Given the description of an element on the screen output the (x, y) to click on. 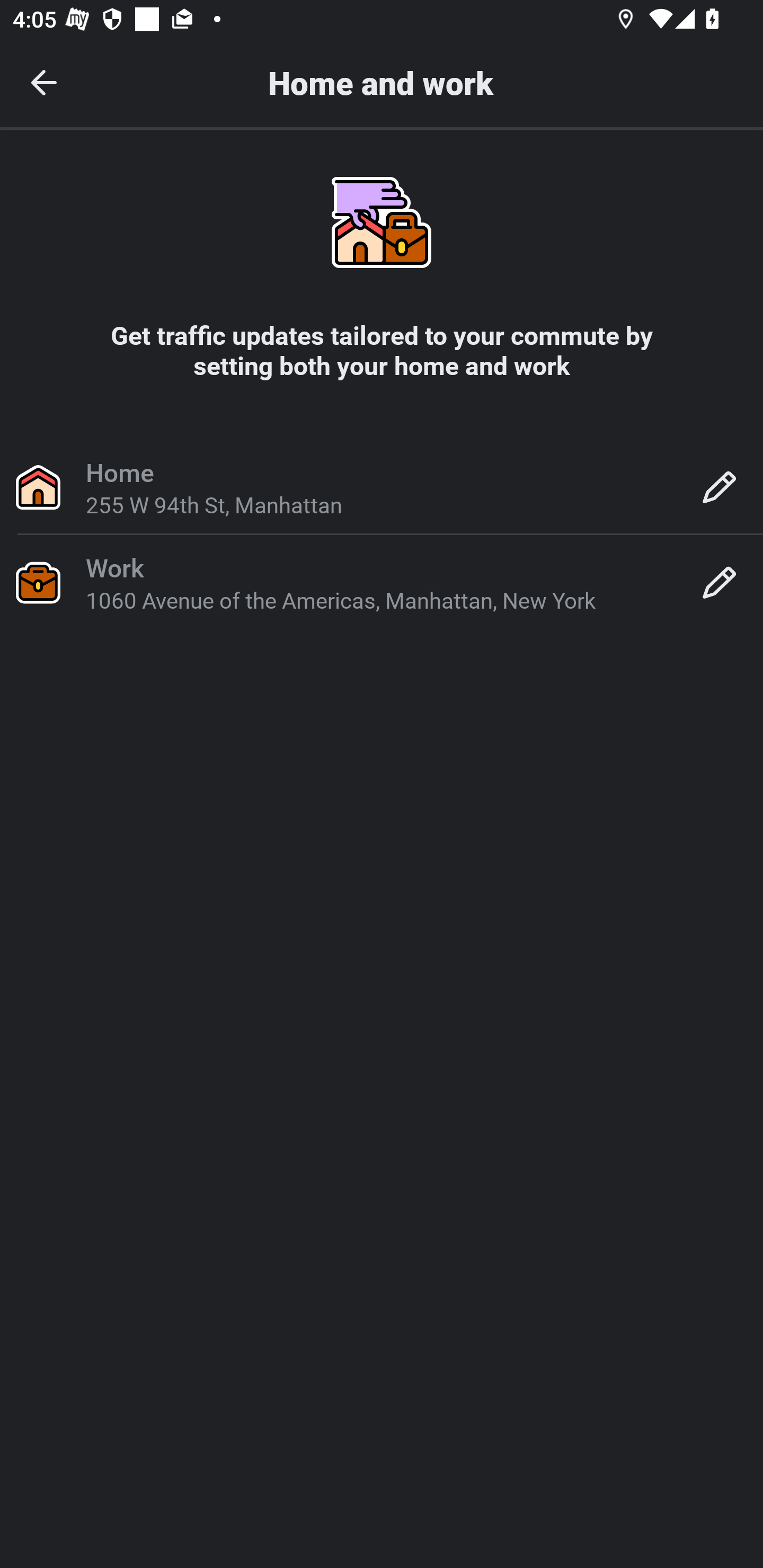
Home 255 W 94th St, Manhattan (381, 486)
